Given the description of an element on the screen output the (x, y) to click on. 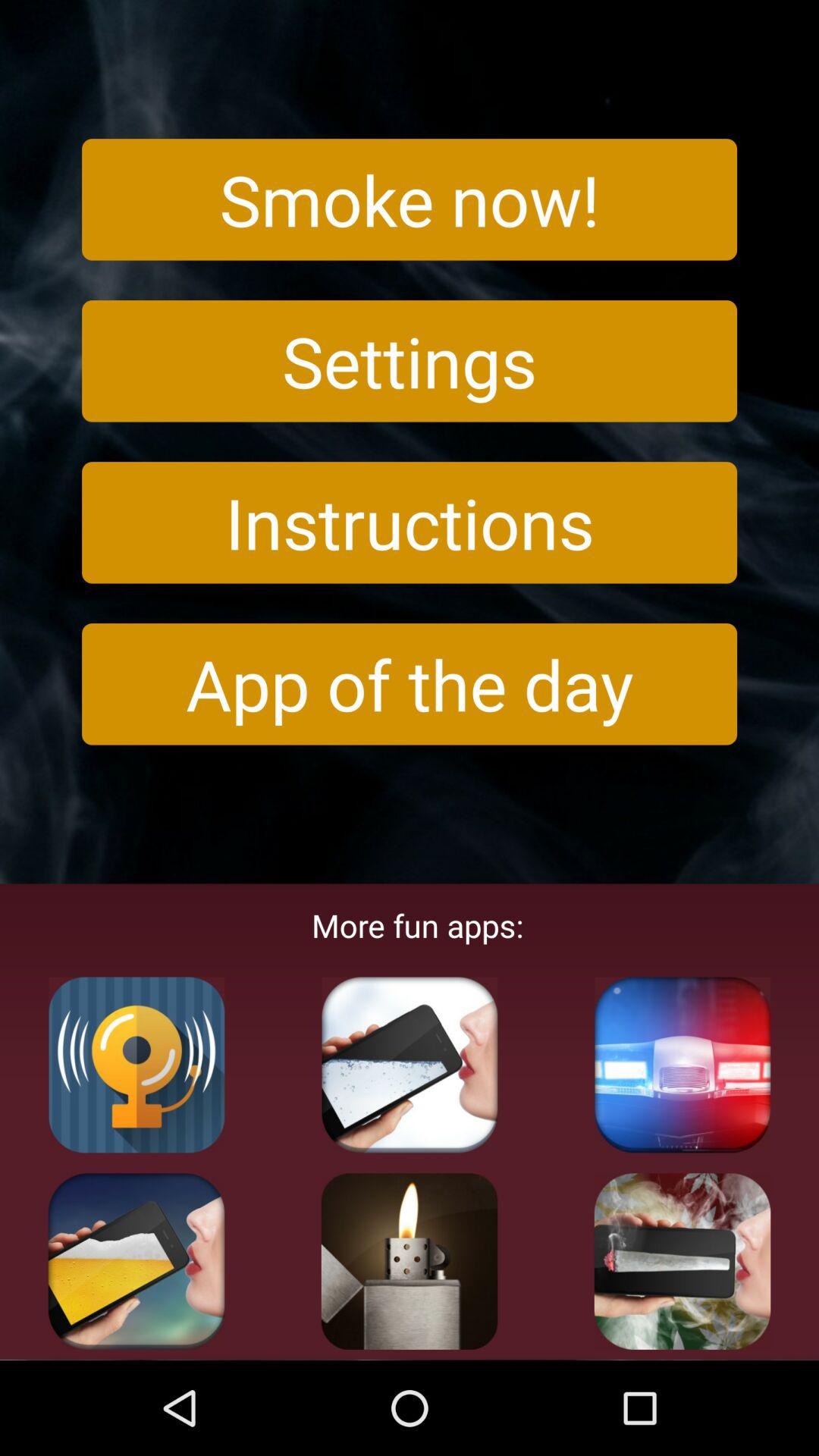
logo (682, 1064)
